Given the description of an element on the screen output the (x, y) to click on. 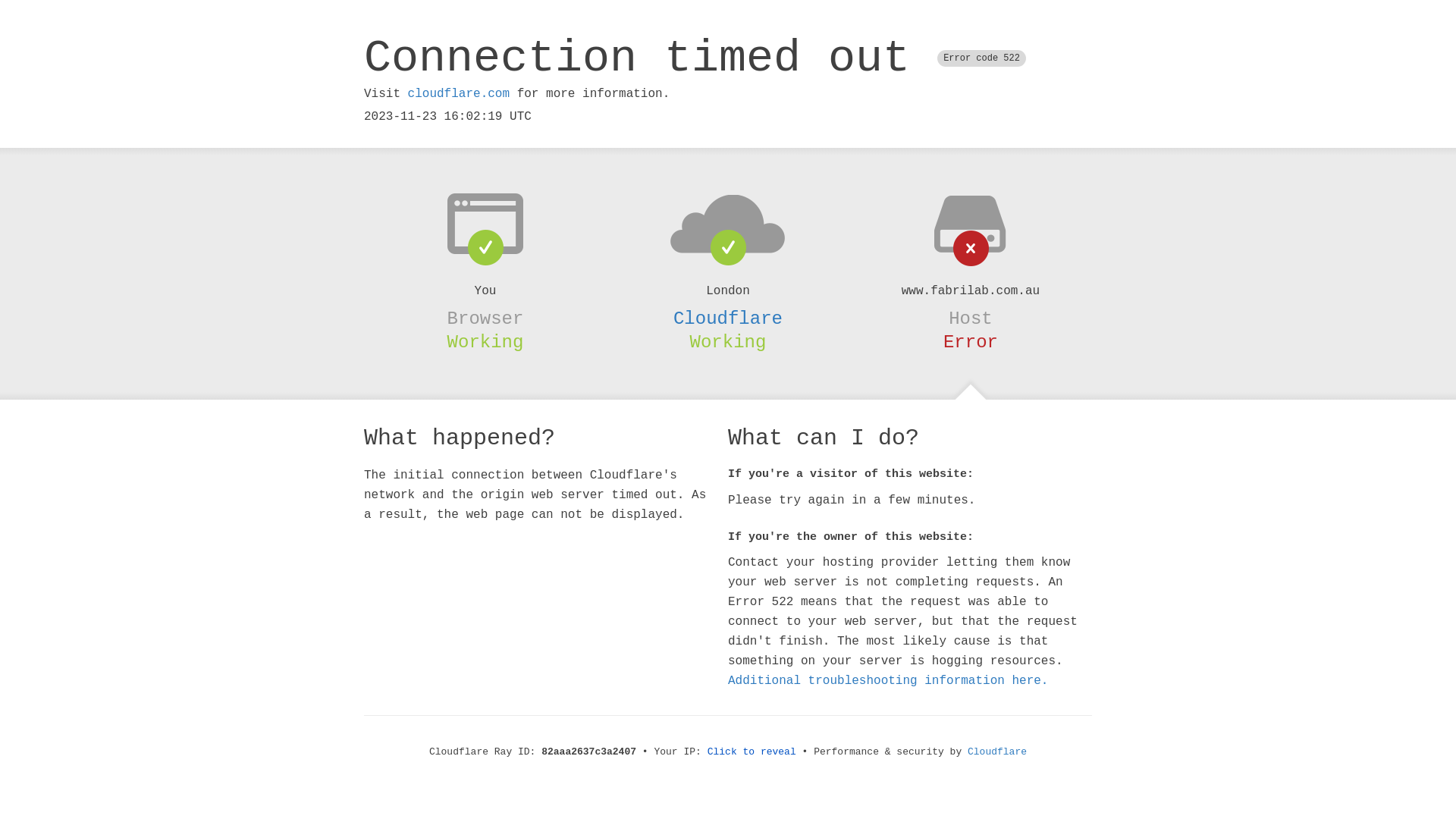
Cloudflare Element type: text (727, 318)
Additional troubleshooting information here. Element type: text (888, 680)
Click to reveal Element type: text (751, 751)
cloudflare.com Element type: text (458, 93)
Cloudflare Element type: text (996, 751)
